Given the description of an element on the screen output the (x, y) to click on. 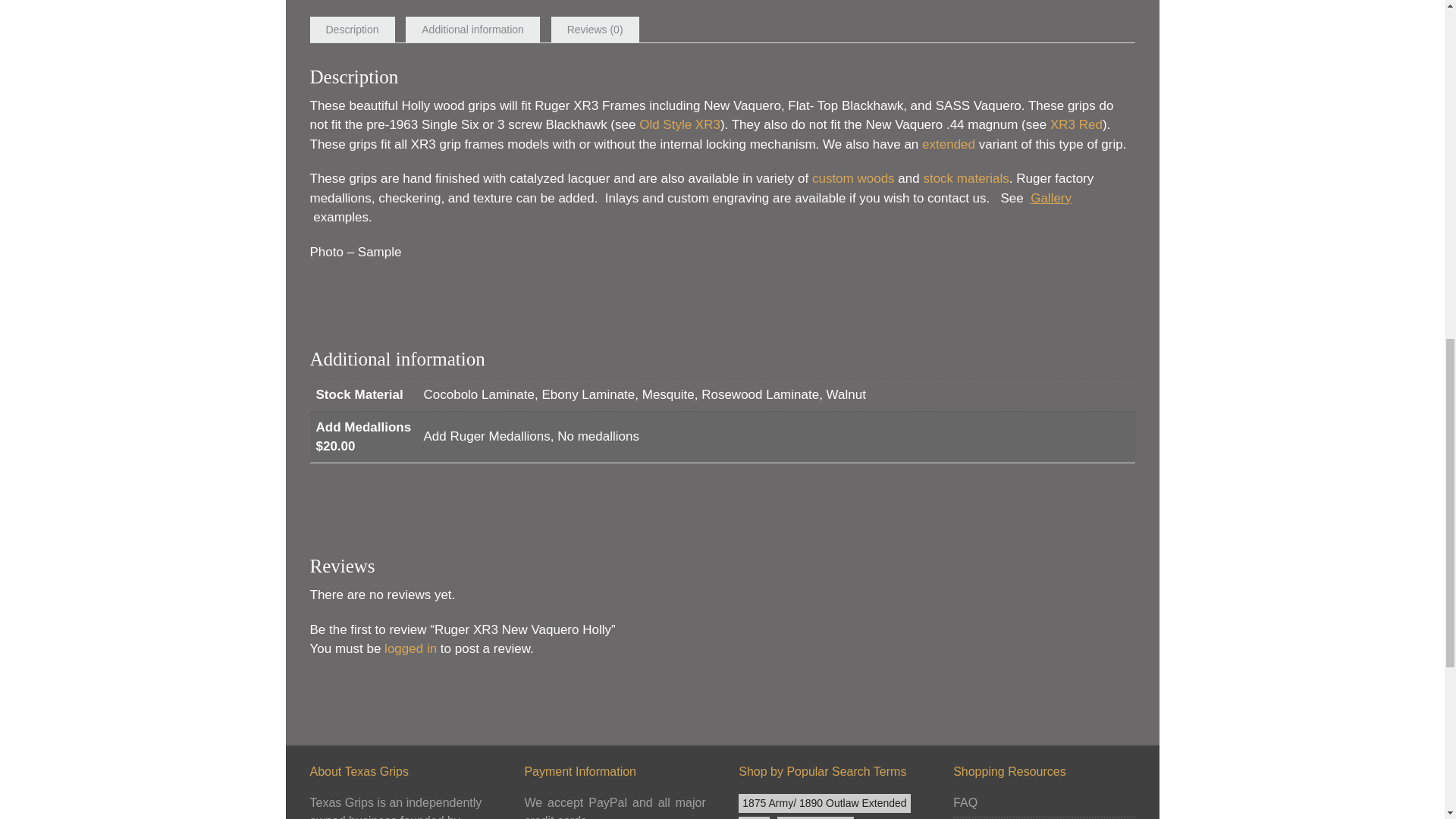
Old Style XR3 (679, 124)
Description (352, 29)
Additional information (472, 29)
